Given the description of an element on the screen output the (x, y) to click on. 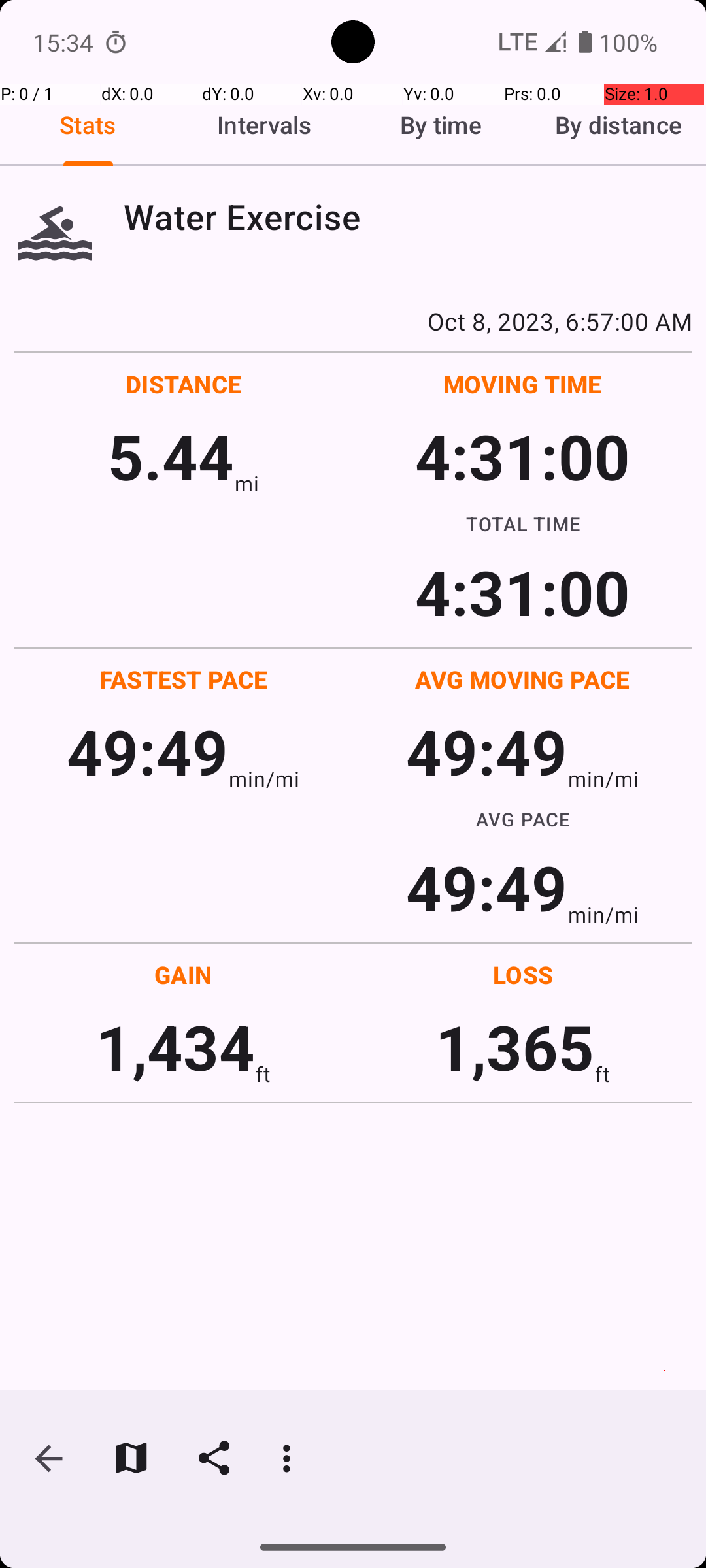
Water Exercise Element type: android.widget.TextView (407, 216)
Oct 8, 2023, 6:57:00 AM Element type: android.widget.TextView (352, 320)
5.44 Element type: android.widget.TextView (170, 455)
4:31:00 Element type: android.widget.TextView (522, 455)
49:49 Element type: android.widget.TextView (147, 750)
1,434 Element type: android.widget.TextView (175, 1045)
1,365 Element type: android.widget.TextView (514, 1045)
